Given the description of an element on the screen output the (x, y) to click on. 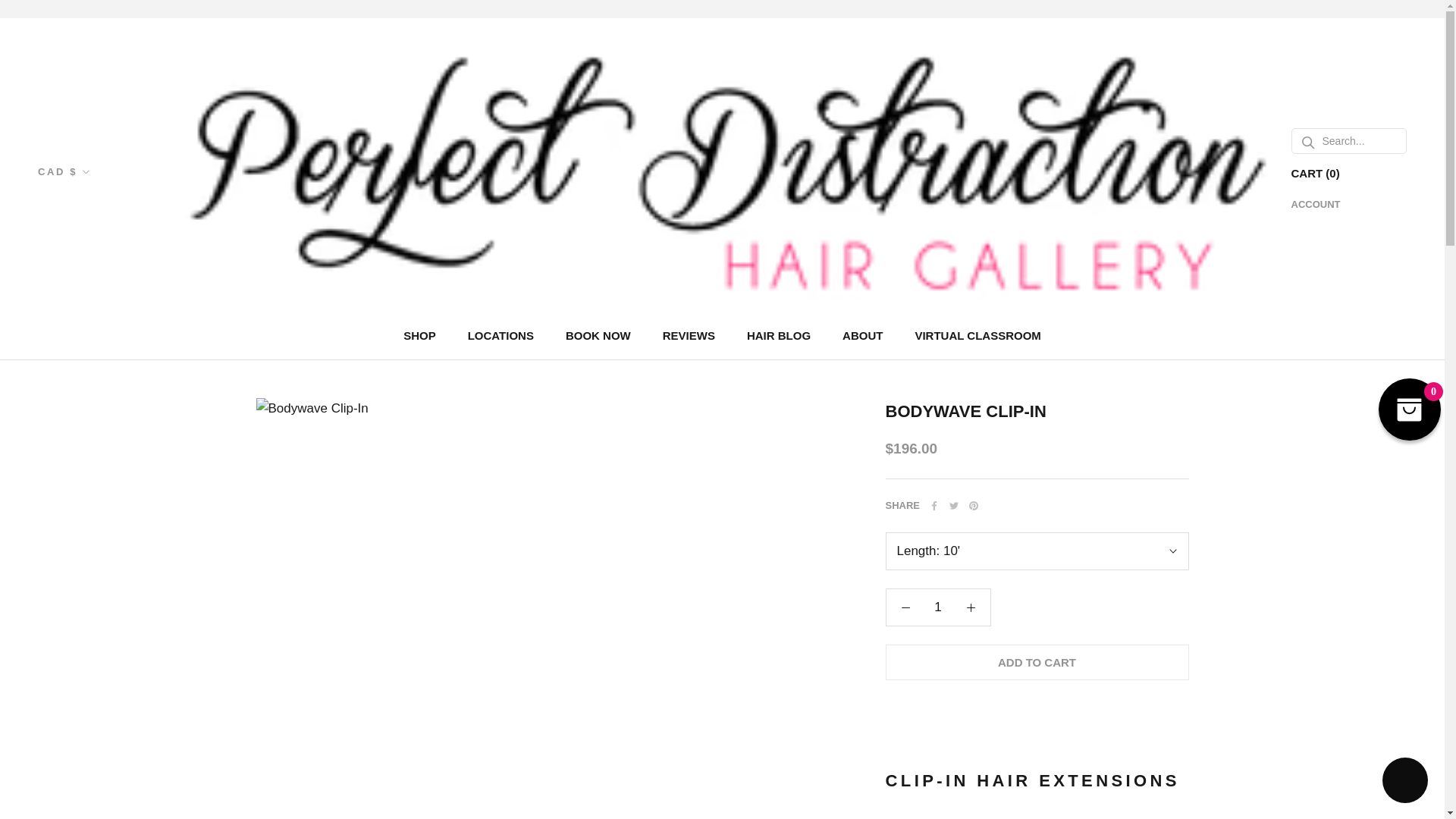
1 (500, 335)
SHOP (938, 607)
BOOK NOW (419, 335)
Shopify online store chat (598, 335)
REVIEWS (1404, 781)
